Given the description of an element on the screen output the (x, y) to click on. 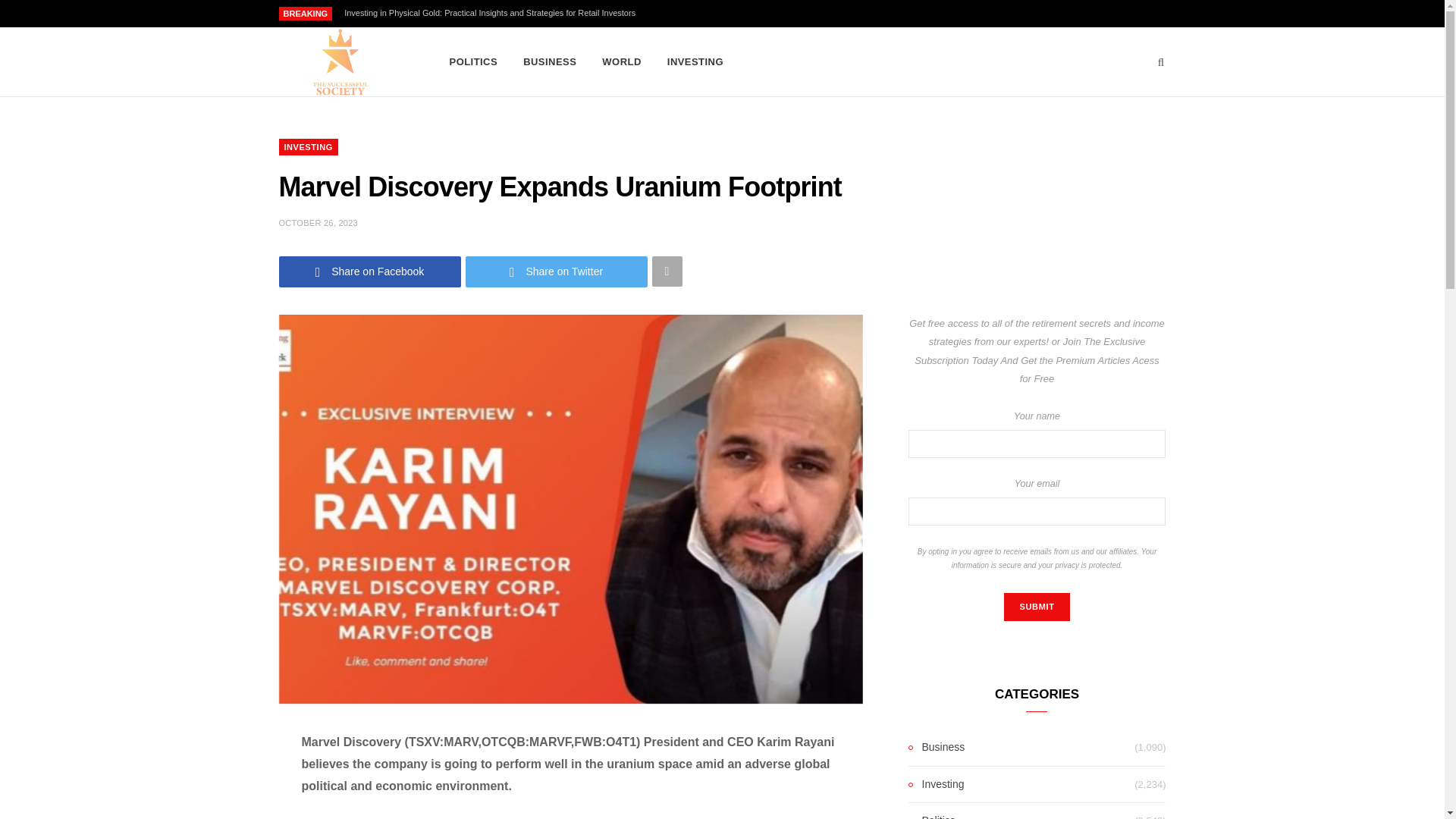
INVESTING (695, 61)
POLITICS (473, 61)
Submit (1036, 606)
Share on Twitter (556, 271)
WORLD (621, 61)
INVESTING (308, 146)
OCTOBER 26, 2023 (318, 222)
BUSINESS (550, 61)
